Given the description of an element on the screen output the (x, y) to click on. 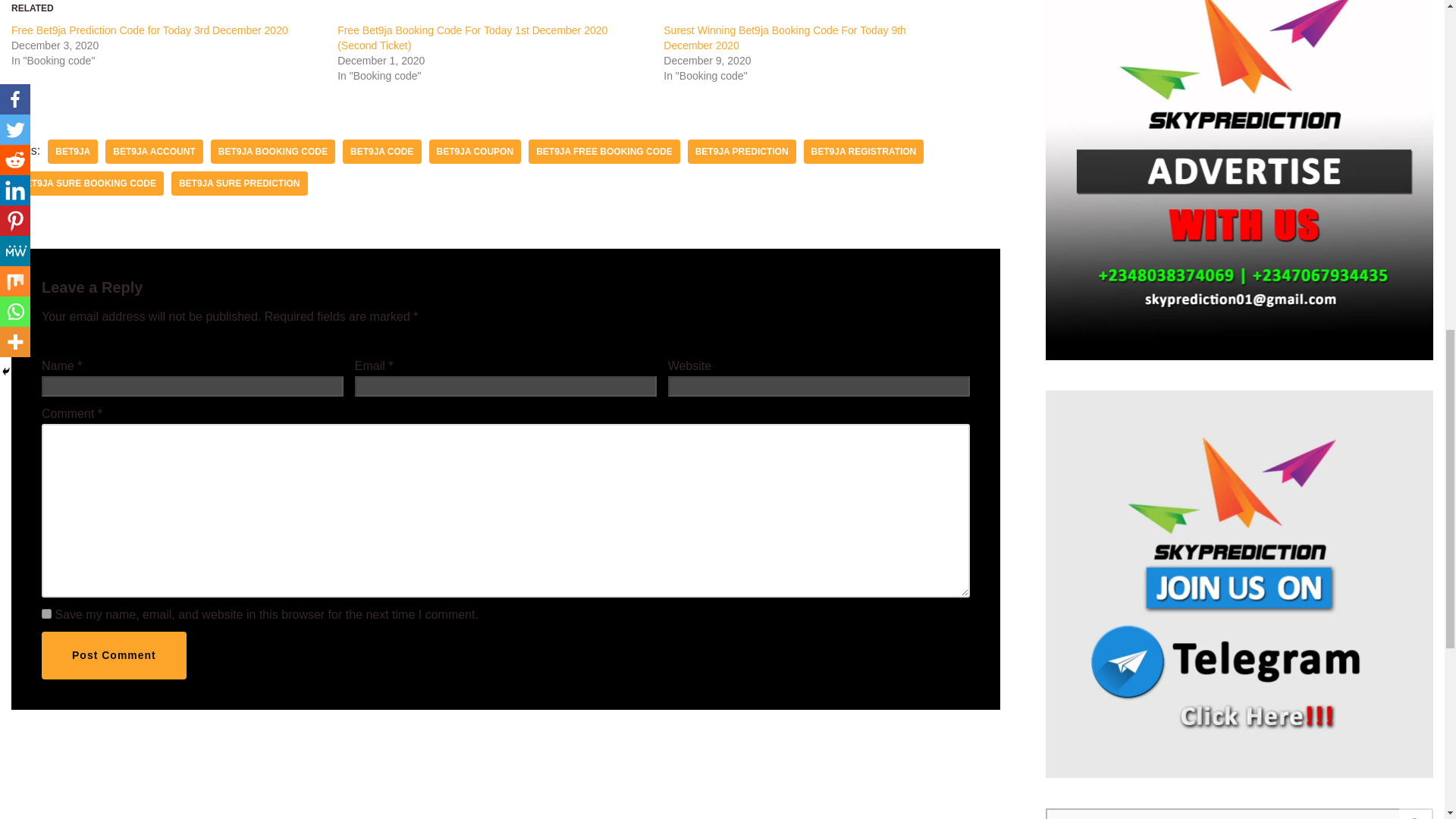
Free Bet9ja Prediction Code for Today 3rd December 2020 (149, 30)
yes (46, 614)
Post Comment (114, 654)
